Given the description of an element on the screen output the (x, y) to click on. 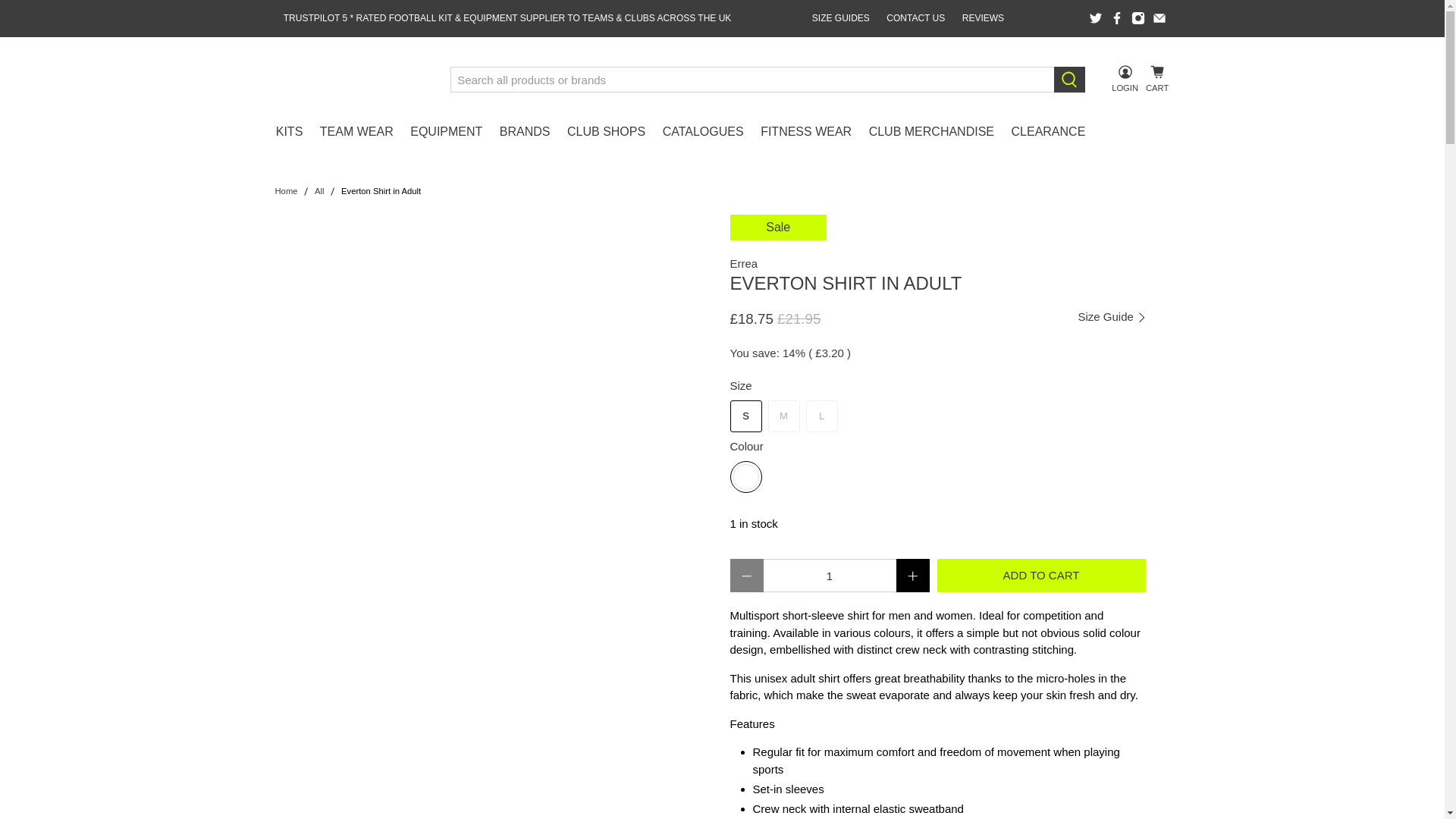
Email Norfolk Football (1159, 18)
1 (828, 575)
Norfolk Football (286, 191)
Norfolk Football on Instagram (1137, 18)
Norfolk Football (352, 79)
CLUB MERCHANDISE (931, 131)
SIZE GUIDES (841, 18)
EQUIPMENT (446, 131)
CONTACT US (915, 18)
CATALOGUES (702, 131)
